Given the description of an element on the screen output the (x, y) to click on. 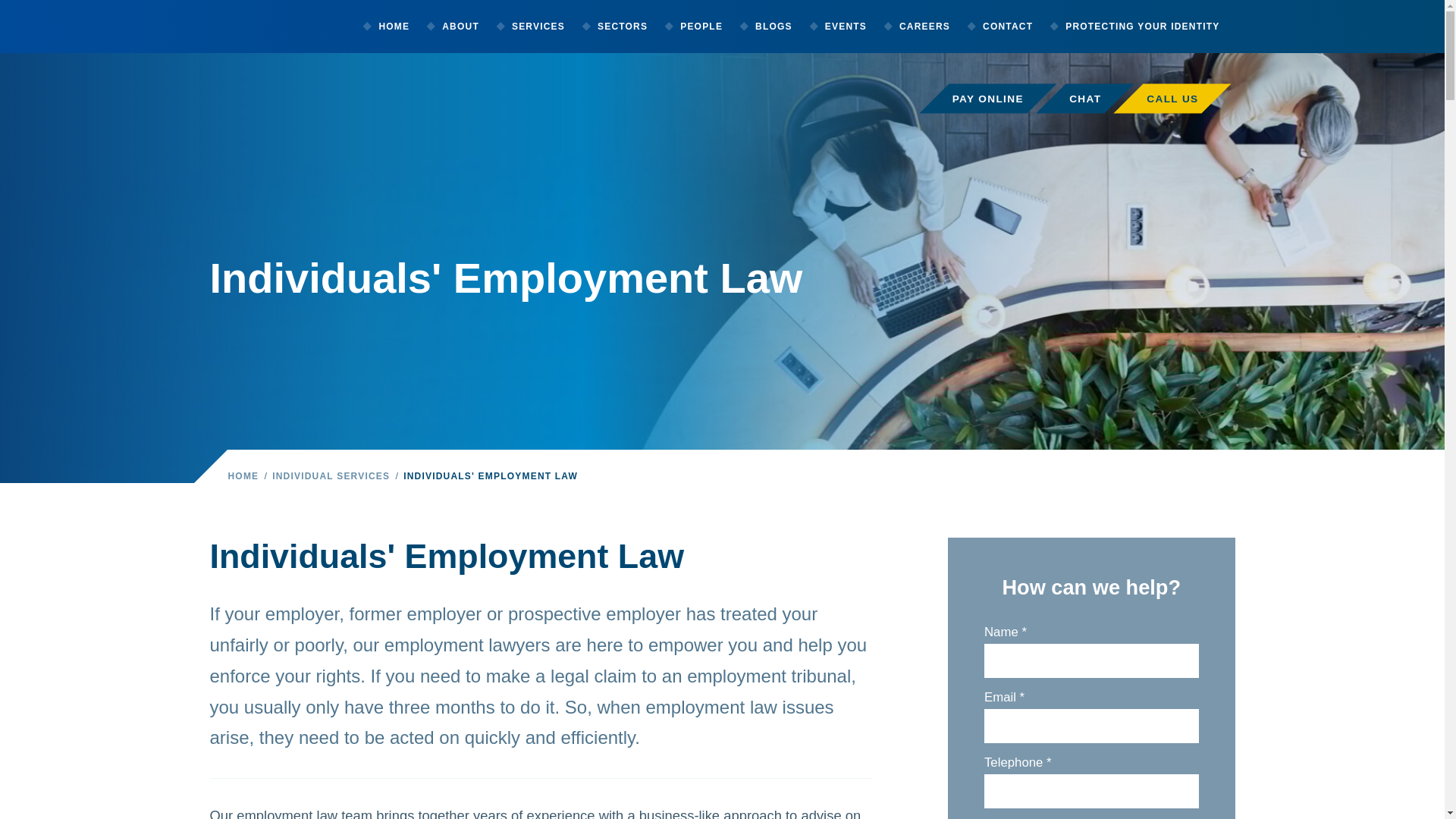
BLOGS (773, 26)
SERVICES (537, 26)
SECTORS (620, 26)
PEOPLE (700, 26)
HOME (393, 26)
ABOUT (460, 26)
